Given the description of an element on the screen output the (x, y) to click on. 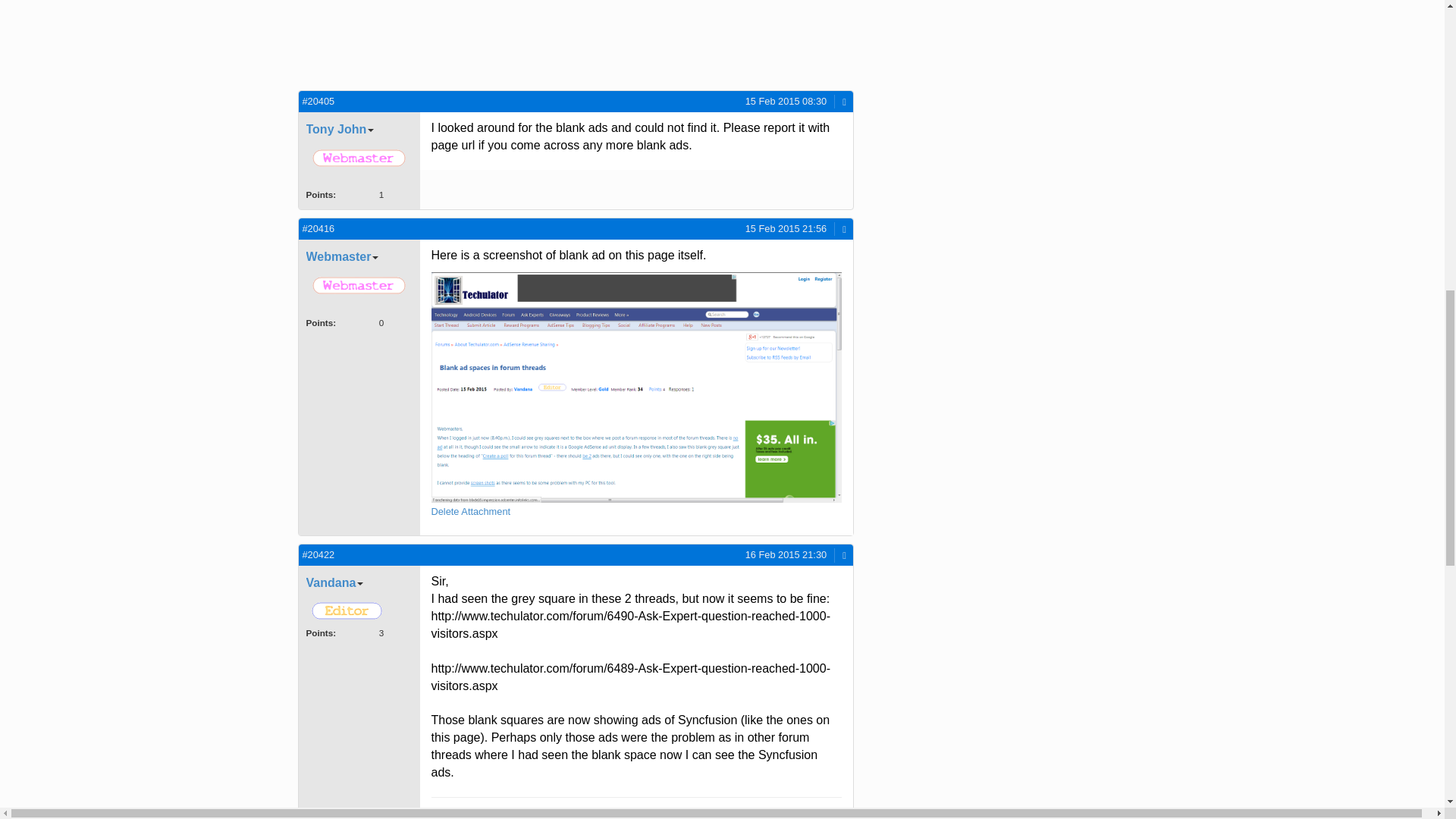
Advertisement (428, 40)
